Given the description of an element on the screen output the (x, y) to click on. 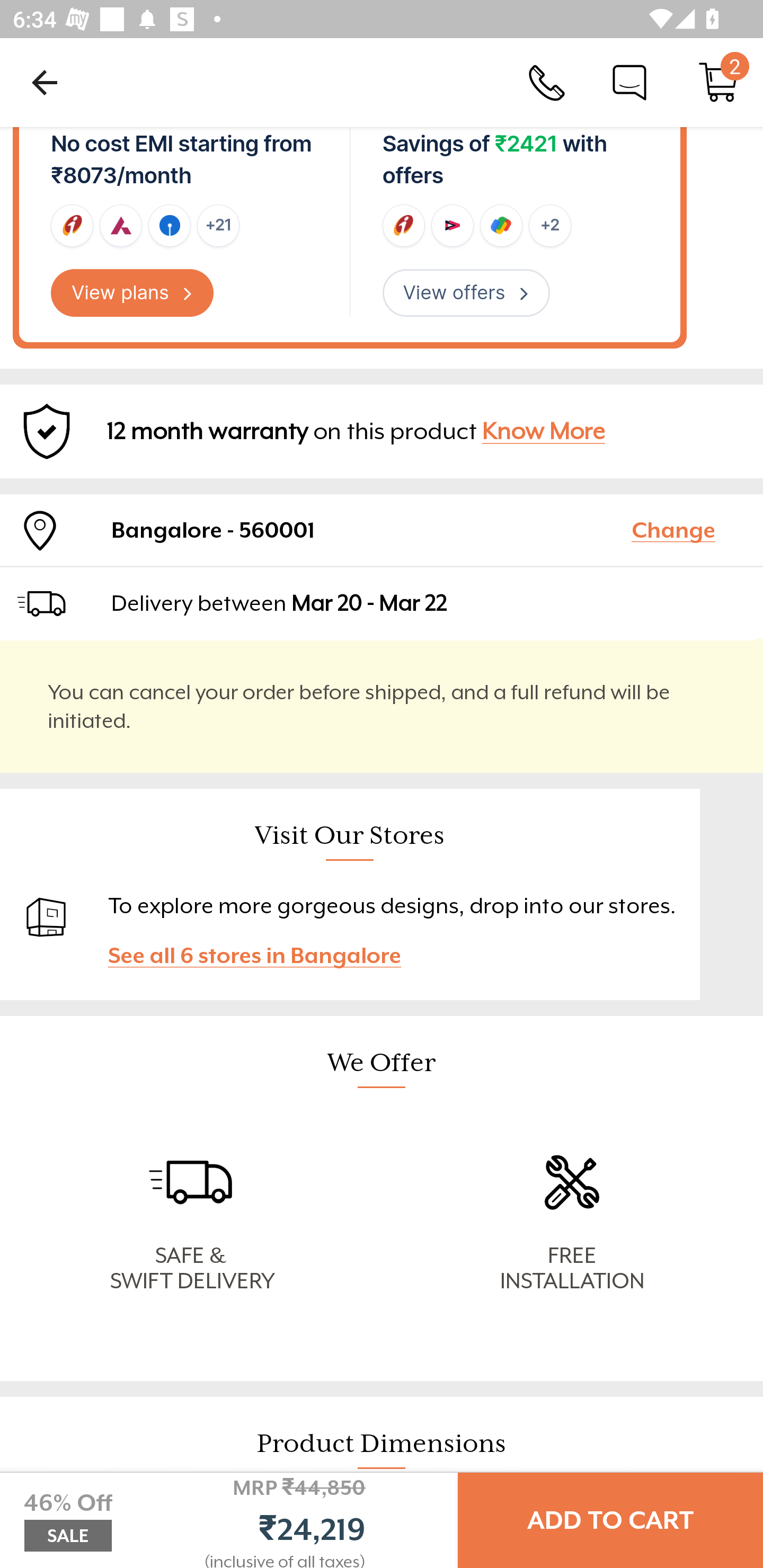
Navigate up (44, 82)
Call Us (546, 81)
Chat (629, 81)
Cart (718, 81)
View plans (132, 293)
View offers (465, 293)
12 month warranty on this product Know More (381, 431)
 Bangalore - 560001 Change (381, 529)
Delivery between Mar 20 - Mar 22 (428, 602)
See all 6 stores in Bangalore (262, 955)
ADD TO CART (610, 1520)
